Given the description of an element on the screen output the (x, y) to click on. 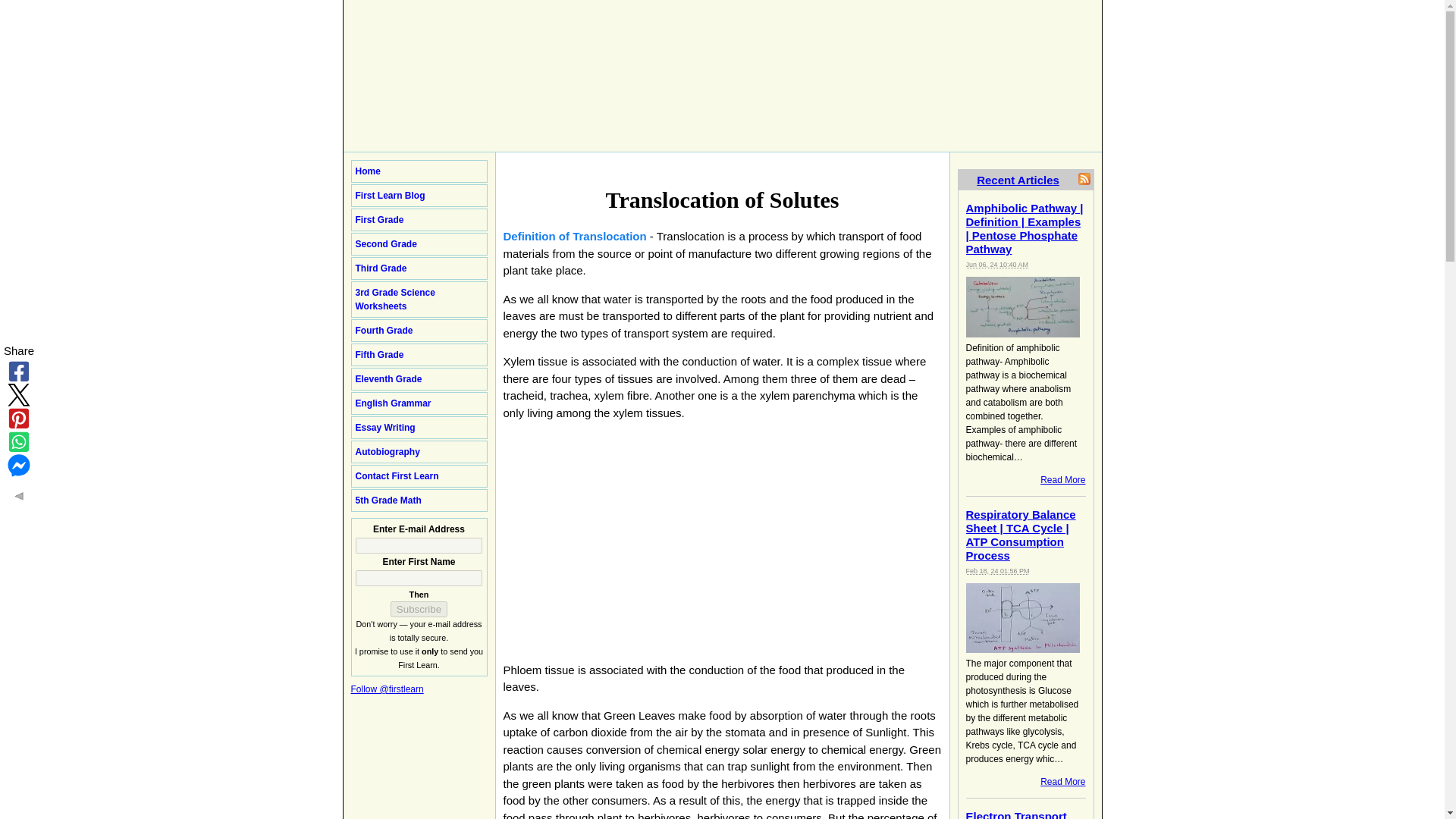
First Grade (418, 219)
Home (418, 170)
Essay Writing (418, 427)
Second Grade (418, 243)
English Grammar (418, 403)
5th Grade Math (418, 499)
Eleventh Grade (418, 378)
Fifth Grade (418, 354)
Contact First Learn (418, 476)
Autobiography (418, 451)
